Given the description of an element on the screen output the (x, y) to click on. 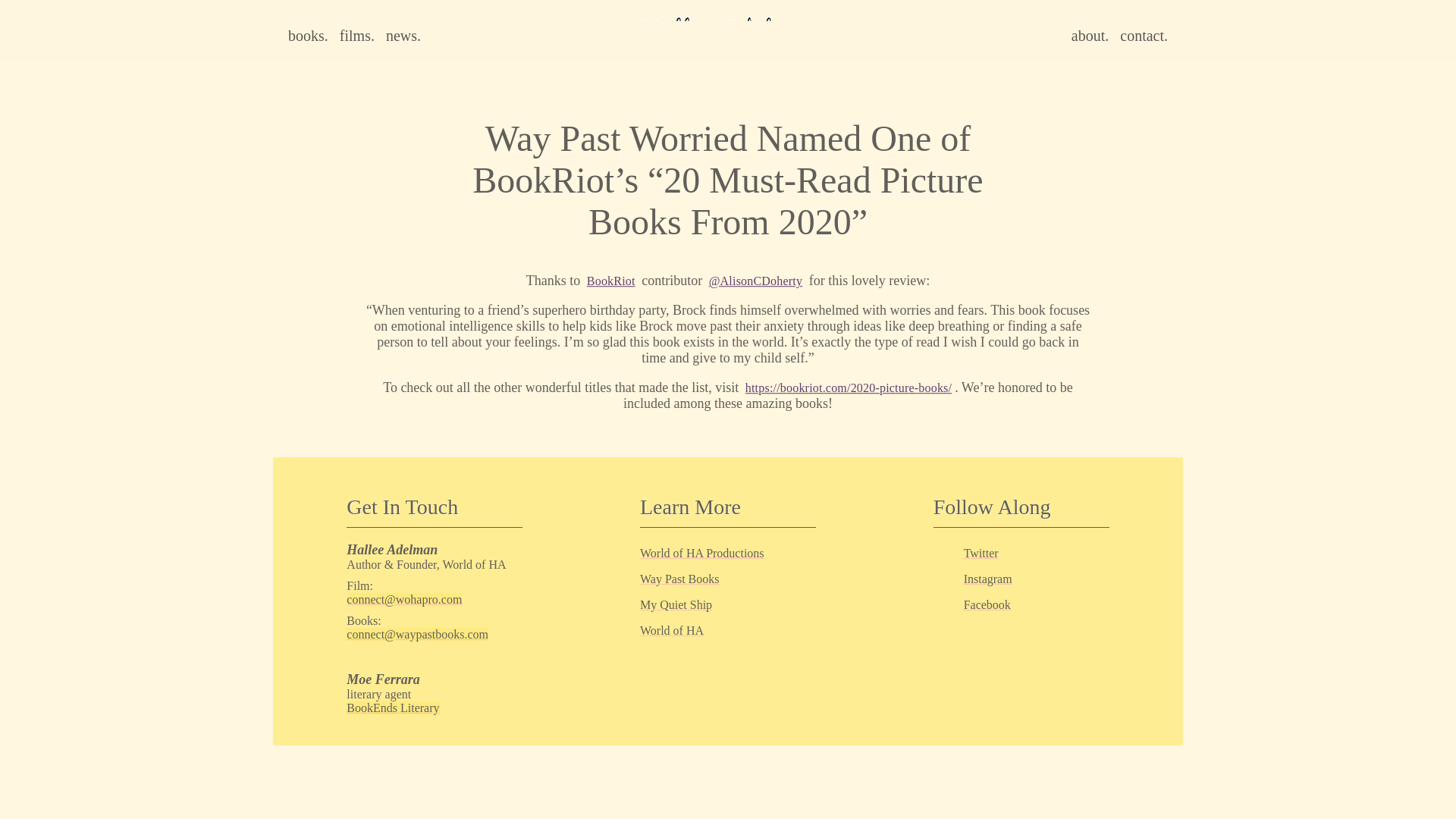
World of HA (671, 630)
BookEnds Literary (392, 707)
Instagram (987, 578)
contact. (1143, 35)
Facebook (986, 604)
books. (308, 35)
about. (1089, 35)
news. (402, 35)
BookRiot (611, 280)
Twitter (980, 553)
My Quiet Ship (675, 604)
films. (356, 35)
Way Past Books (679, 578)
World of HA Productions (702, 553)
